Given the description of an element on the screen output the (x, y) to click on. 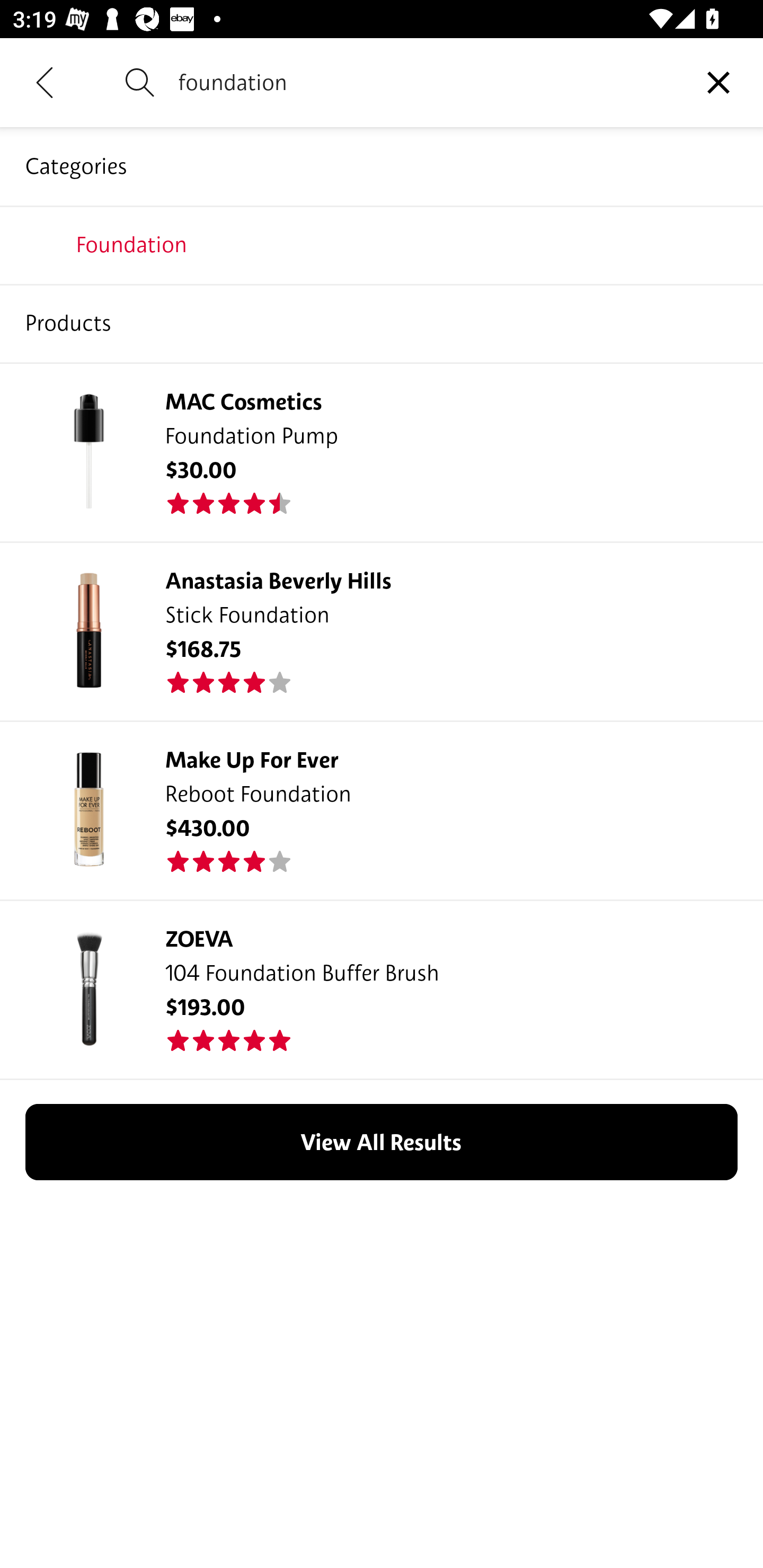
Navigate up (44, 82)
Clear query (718, 81)
foundation (425, 82)
the ordinary (381, 244)
supergoop! (381, 322)
Product Image MAC Cosmetics Foundation Pump $30.00 (381, 451)
View All Results (381, 1141)
